Given the description of an element on the screen output the (x, y) to click on. 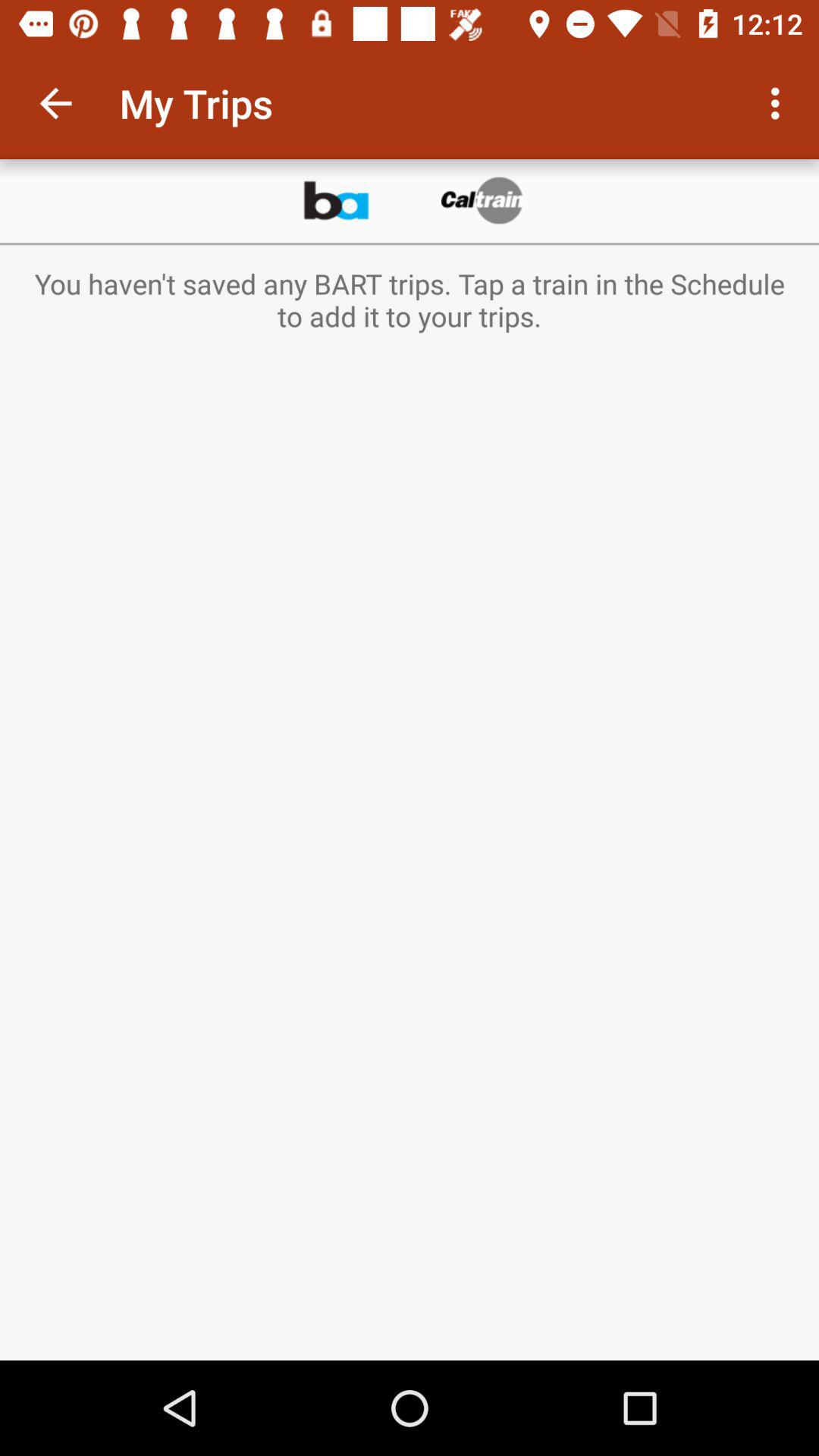
turn off the you haven t (409, 299)
